Given the description of an element on the screen output the (x, y) to click on. 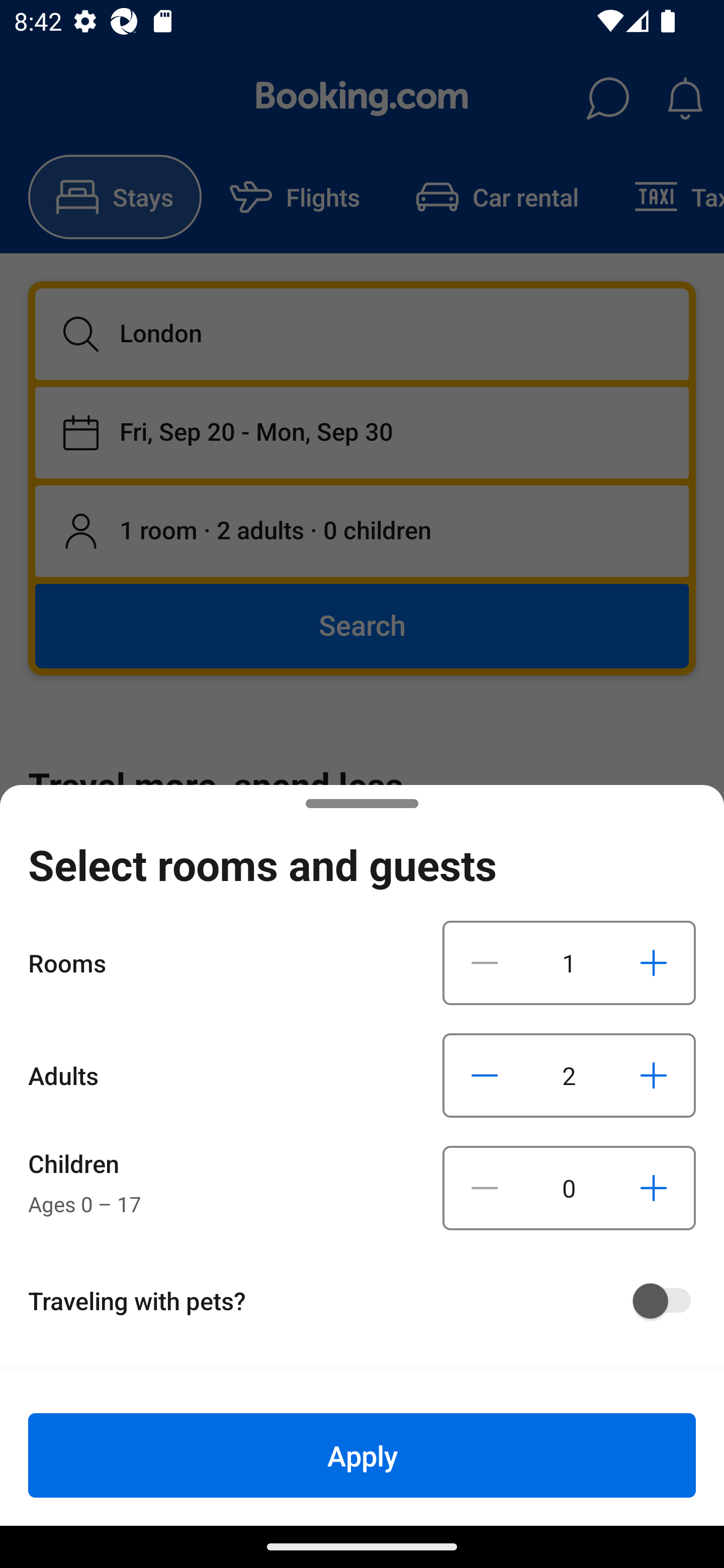
Decrease (484, 962)
Increase (653, 962)
Decrease (484, 1075)
Increase (653, 1075)
Decrease (484, 1188)
Increase (653, 1188)
Traveling with pets? (369, 1300)
Apply (361, 1454)
